Given the description of an element on the screen output the (x, y) to click on. 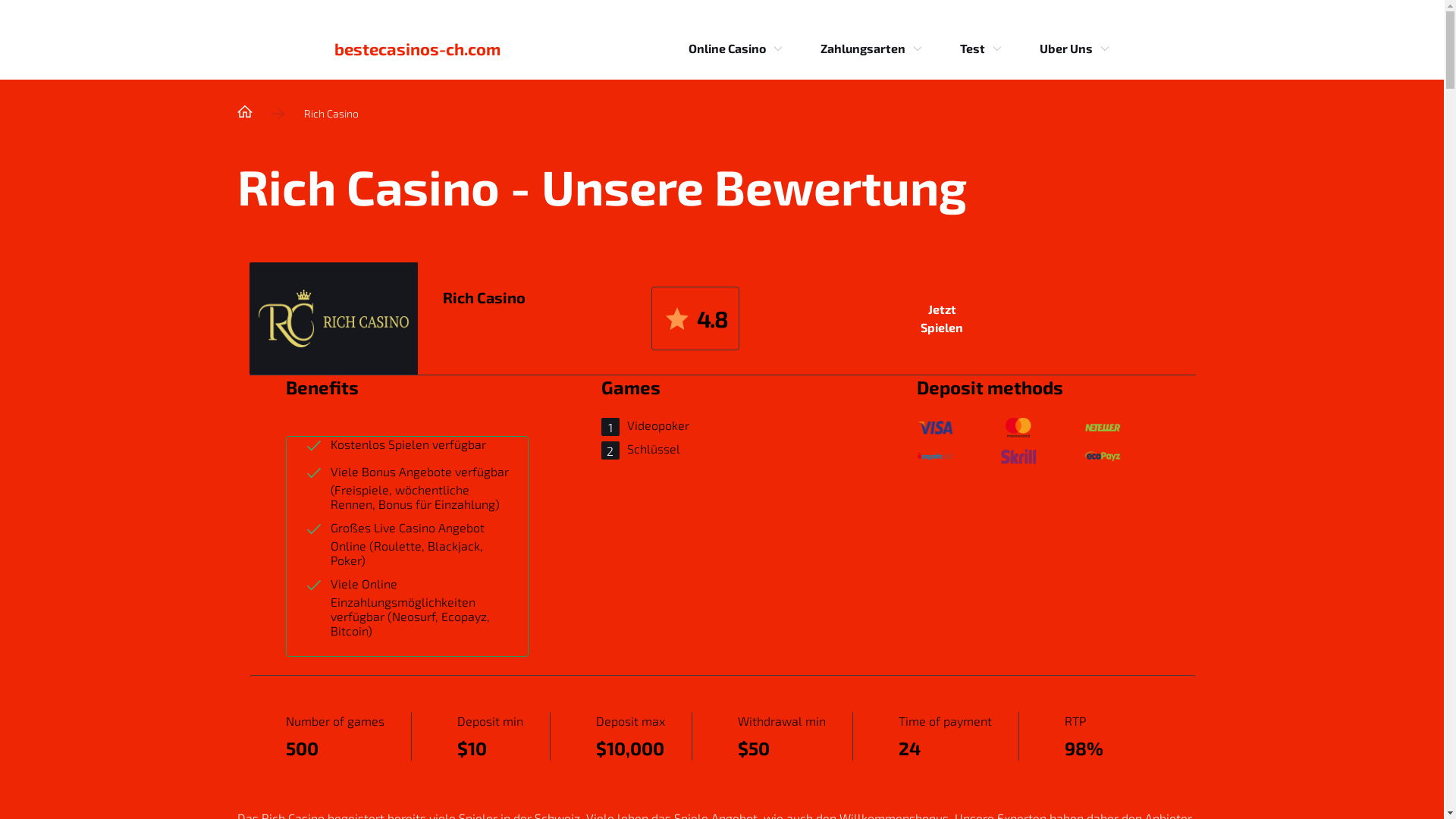
Uber Uns Element type: text (1065, 48)
Zahlungsarten Element type: text (862, 48)
Online Casino Element type: text (726, 48)
Jetzt Spielen Element type: text (942, 318)
Test Element type: text (972, 48)
bestecasinos-ch.com Element type: text (416, 48)
